Given the description of an element on the screen output the (x, y) to click on. 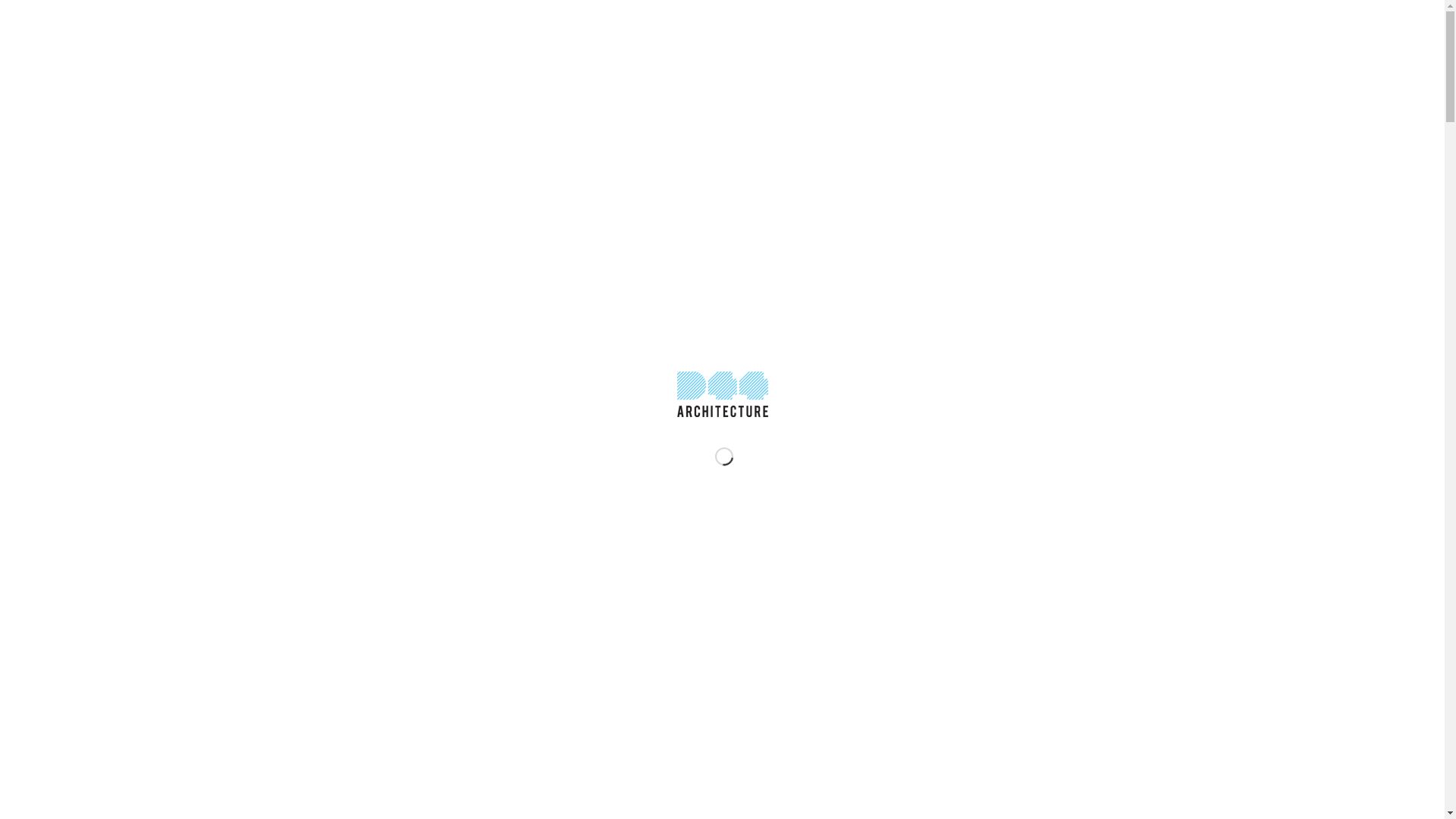
PORTFOLIO Element type: text (1048, 37)
ABOUT Element type: text (985, 37)
HOME Element type: text (879, 37)
CONTACT Element type: text (1117, 37)
SLIDER Element type: text (931, 37)
